Given the description of an element on the screen output the (x, y) to click on. 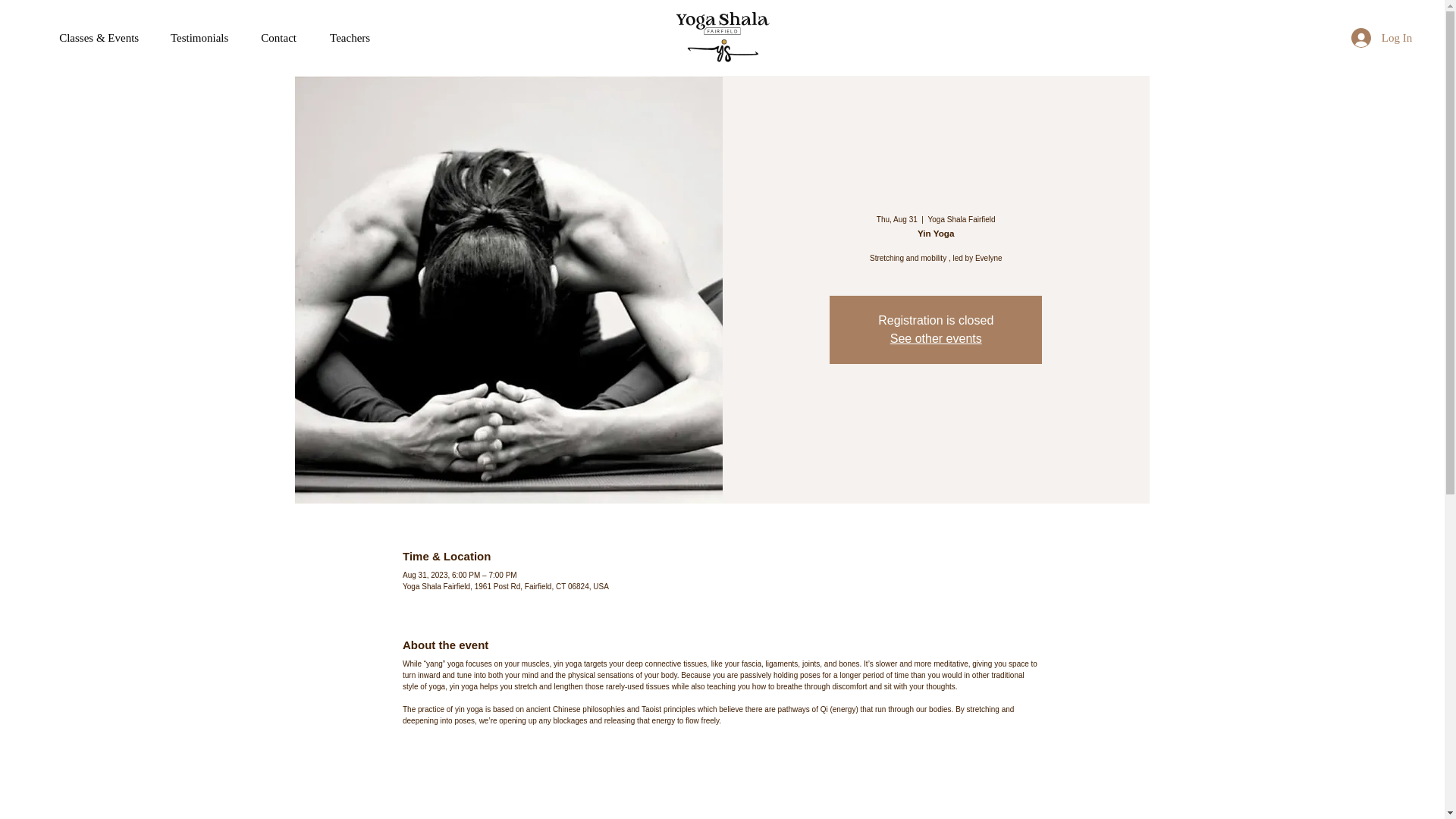
See other events (935, 338)
Log In (1381, 37)
Testimonials (199, 37)
Teachers (350, 37)
Contact (278, 37)
